Given the description of an element on the screen output the (x, y) to click on. 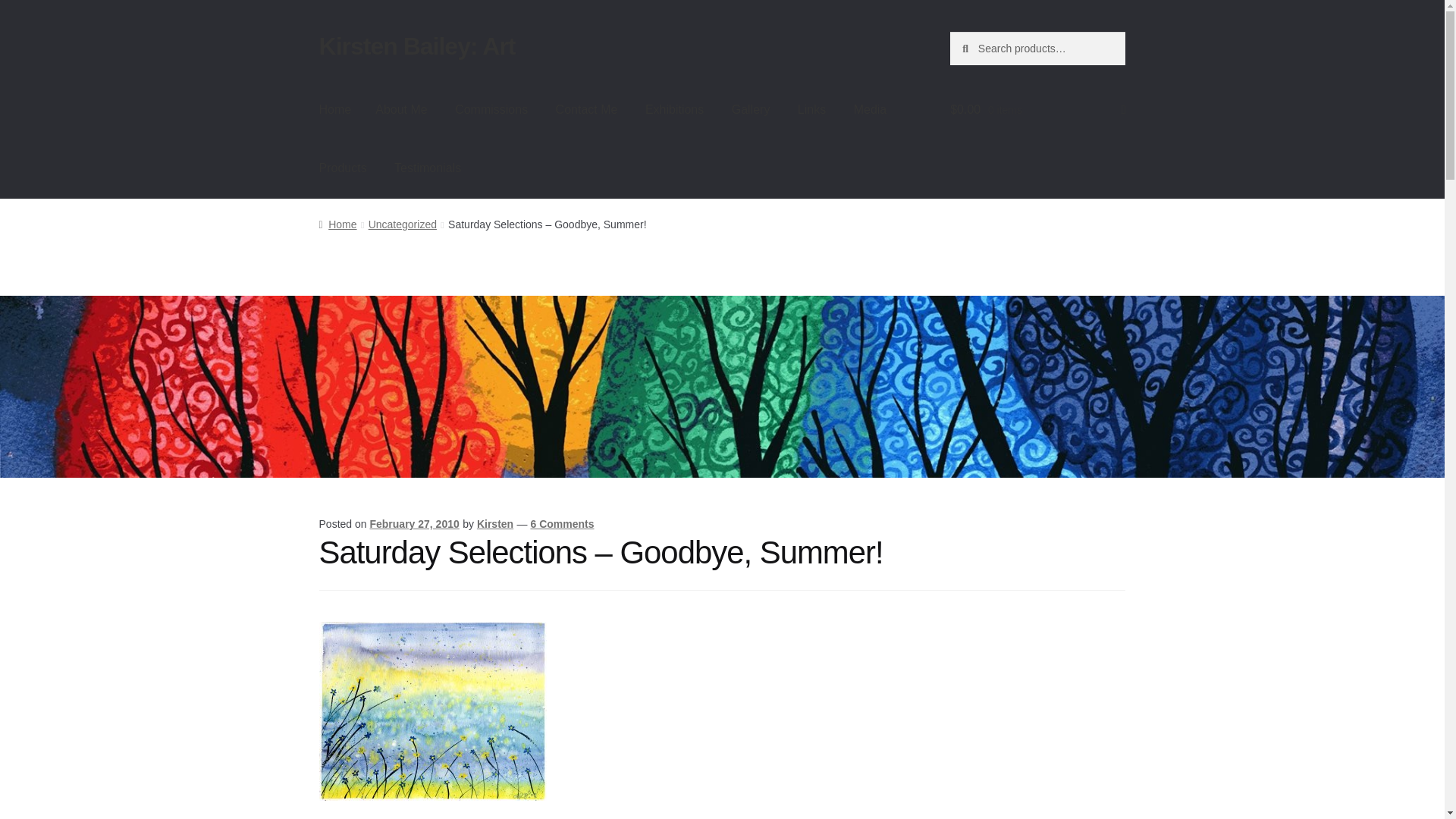
Contact Me (586, 109)
6 Comments (561, 523)
Testimonials (427, 168)
Exhibitions (674, 109)
Kirsten (495, 523)
Gallery (751, 109)
Home (335, 109)
Uncategorized (402, 224)
